Given the description of an element on the screen output the (x, y) to click on. 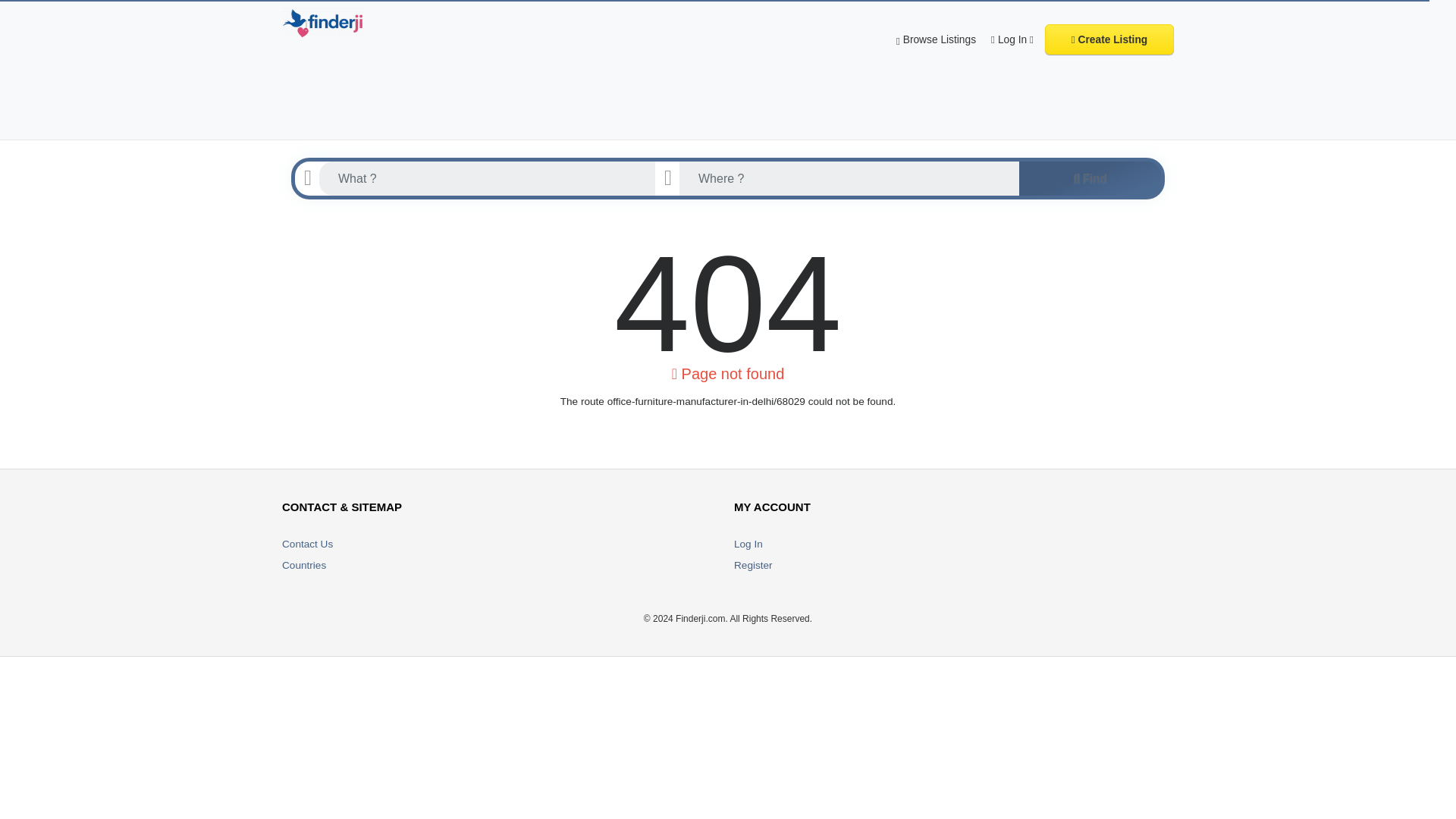
Browse Listings (936, 39)
Log In (747, 543)
Log In (1012, 39)
Find (1089, 184)
Register (753, 564)
Countries (304, 564)
Contact Us (307, 543)
Create Listing (1109, 39)
